Given the description of an element on the screen output the (x, y) to click on. 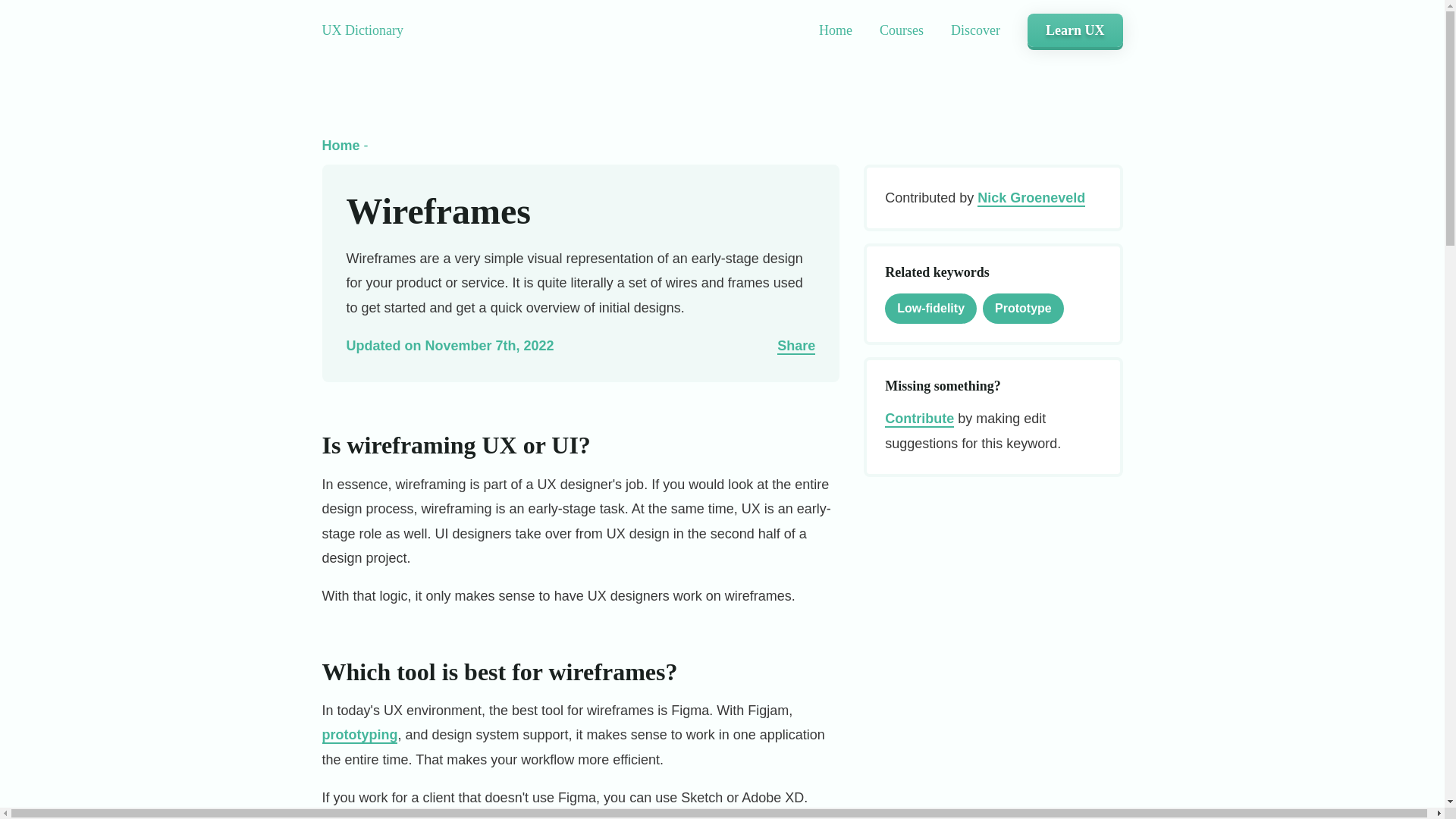
UX Dictionary (834, 29)
Home (340, 145)
Learn UX (1074, 29)
Share (796, 346)
Mail to UX Dictionary (919, 419)
Prototype (359, 735)
Discover (975, 29)
Join UX Dictionary (1074, 29)
UX Dictionary (362, 29)
Nick Groeneveld (1030, 198)
Low-fidelity (929, 308)
Contribute (919, 419)
Prototype (1022, 308)
Prototype (1022, 308)
Nick Groeneveld on LinkedIn (1030, 198)
